Given the description of an element on the screen output the (x, y) to click on. 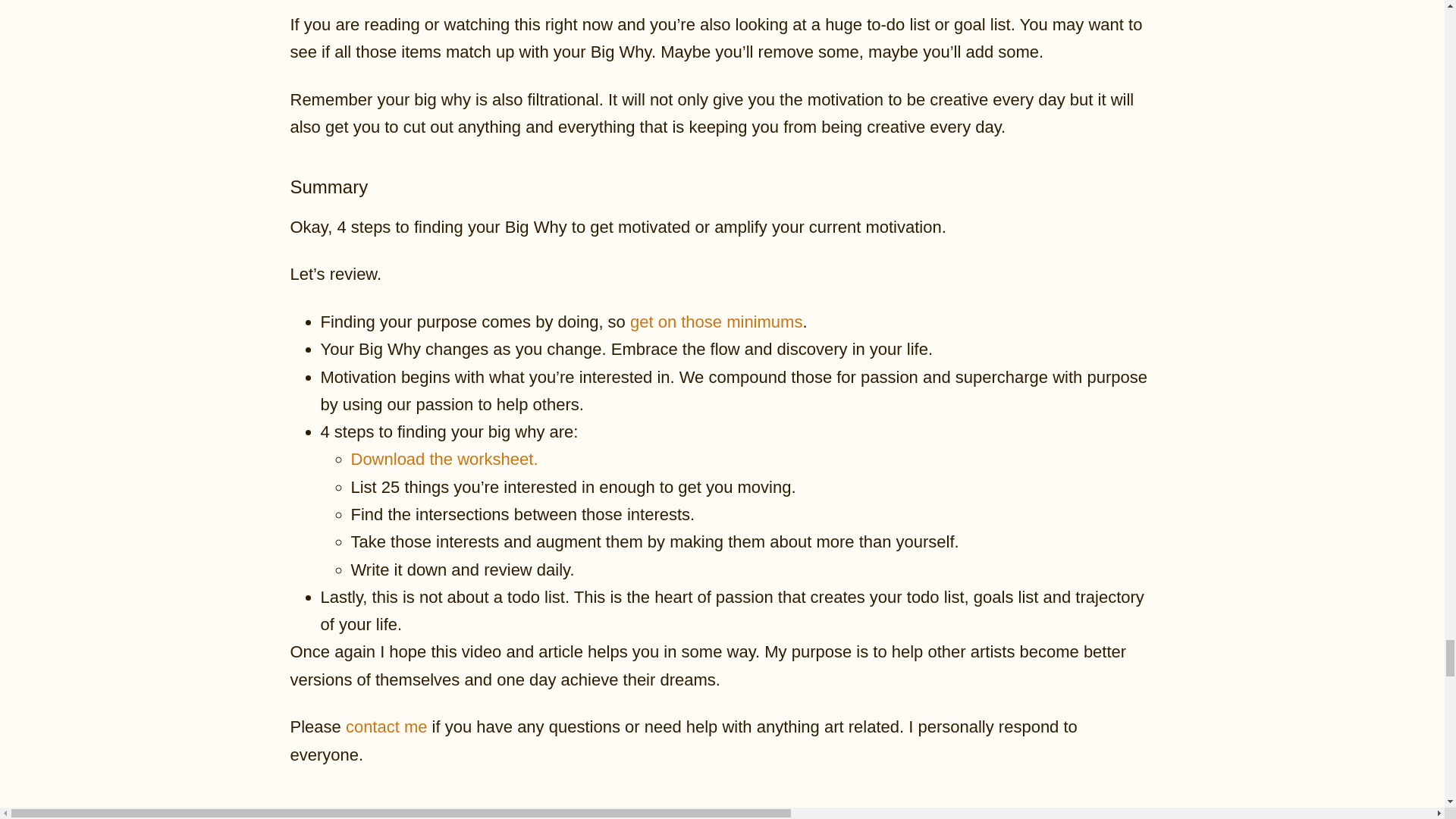
Download the worksheet.  (445, 458)
get on those minimums (716, 321)
contact me (387, 726)
